Given the description of an element on the screen output the (x, y) to click on. 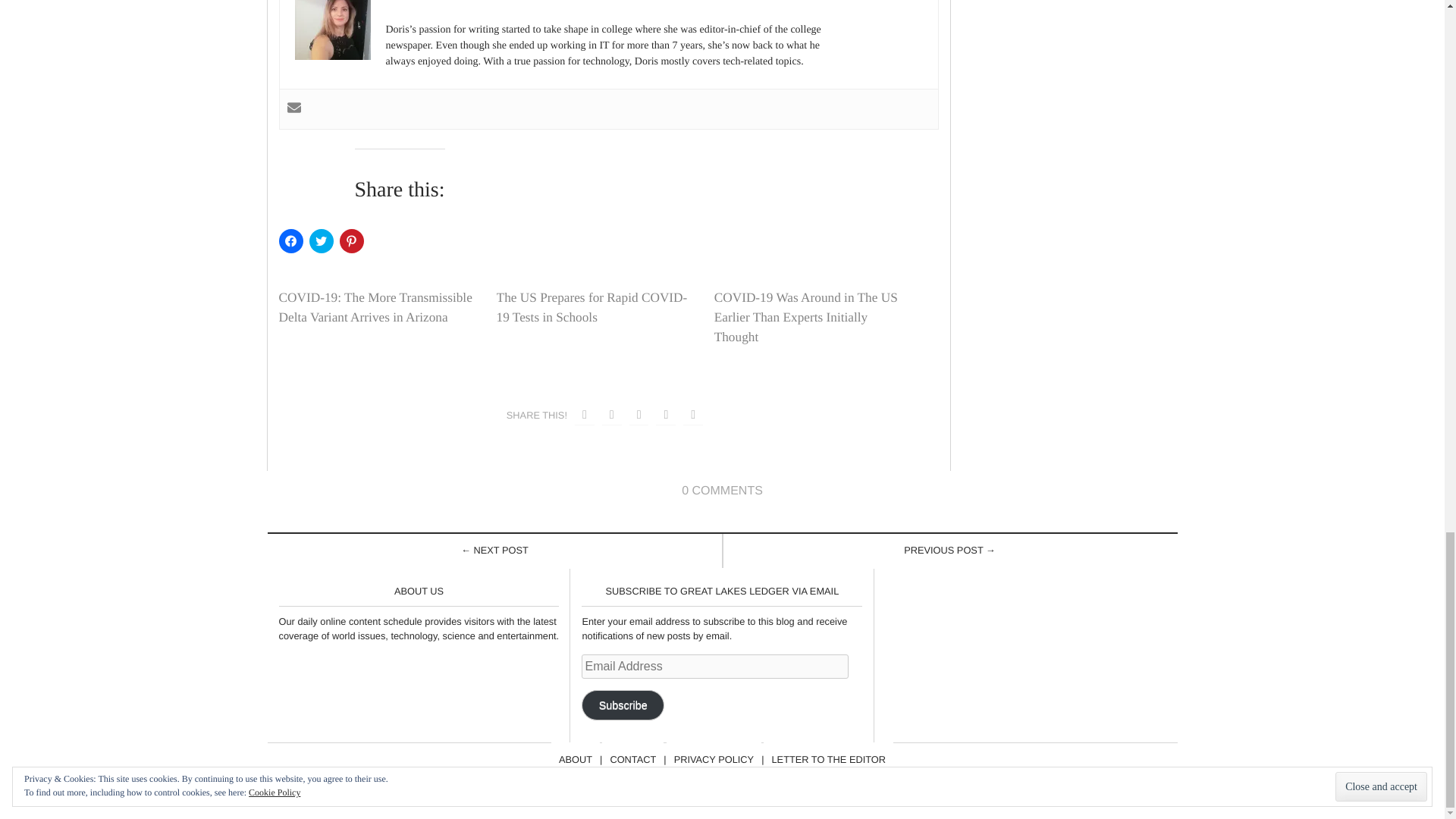
Share on Facebook. (584, 415)
Share on LinkedIn (692, 415)
Click to share on Facebook (290, 241)
Tweet this! (611, 415)
Click to share on Twitter (320, 241)
Doris Daniel (419, 0)
The US Prepares for Rapid COVID-19 Tests in Schools (591, 307)
